Given the description of an element on the screen output the (x, y) to click on. 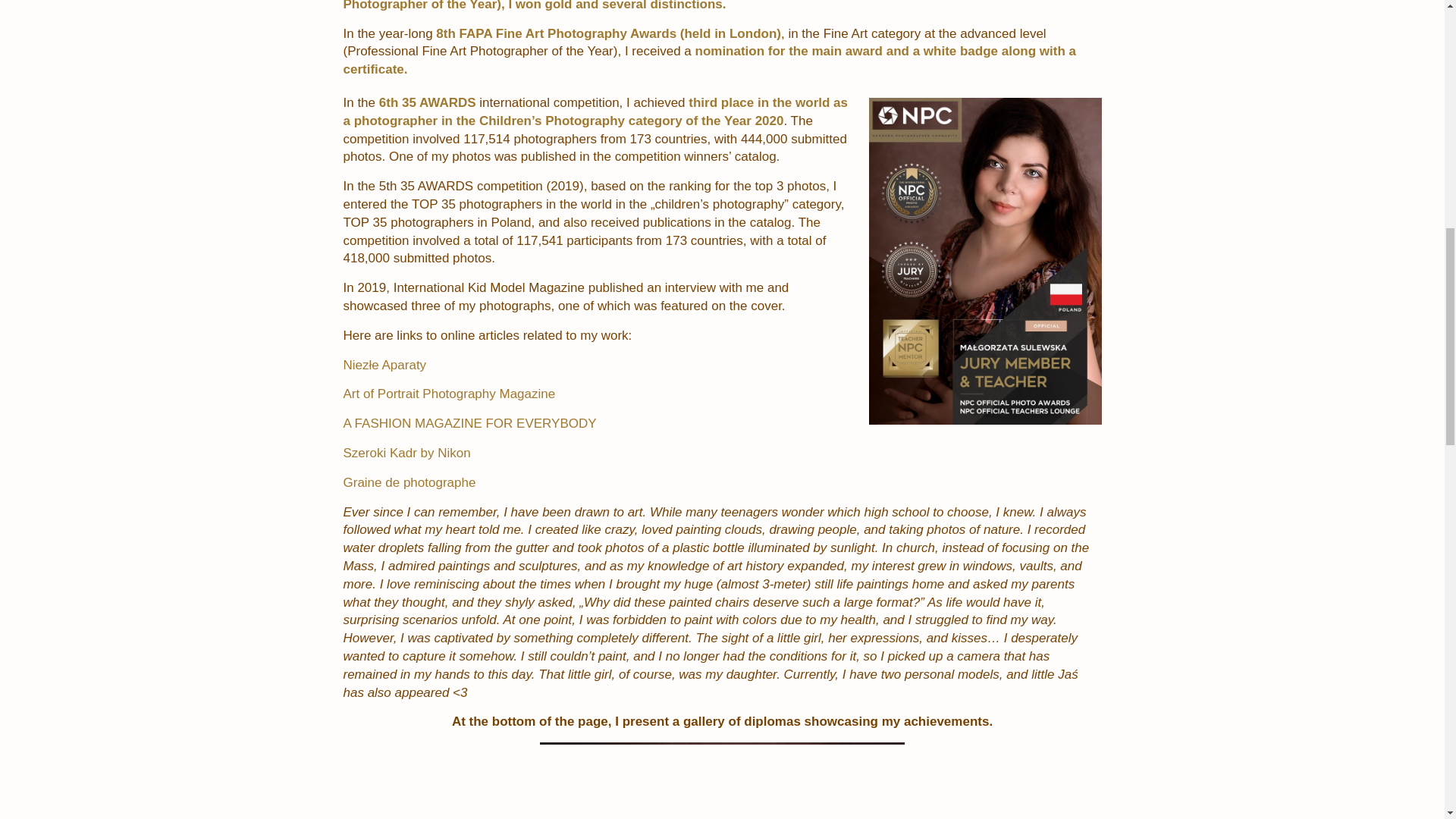
6th 35 AWARDS (429, 102)
